Given the description of an element on the screen output the (x, y) to click on. 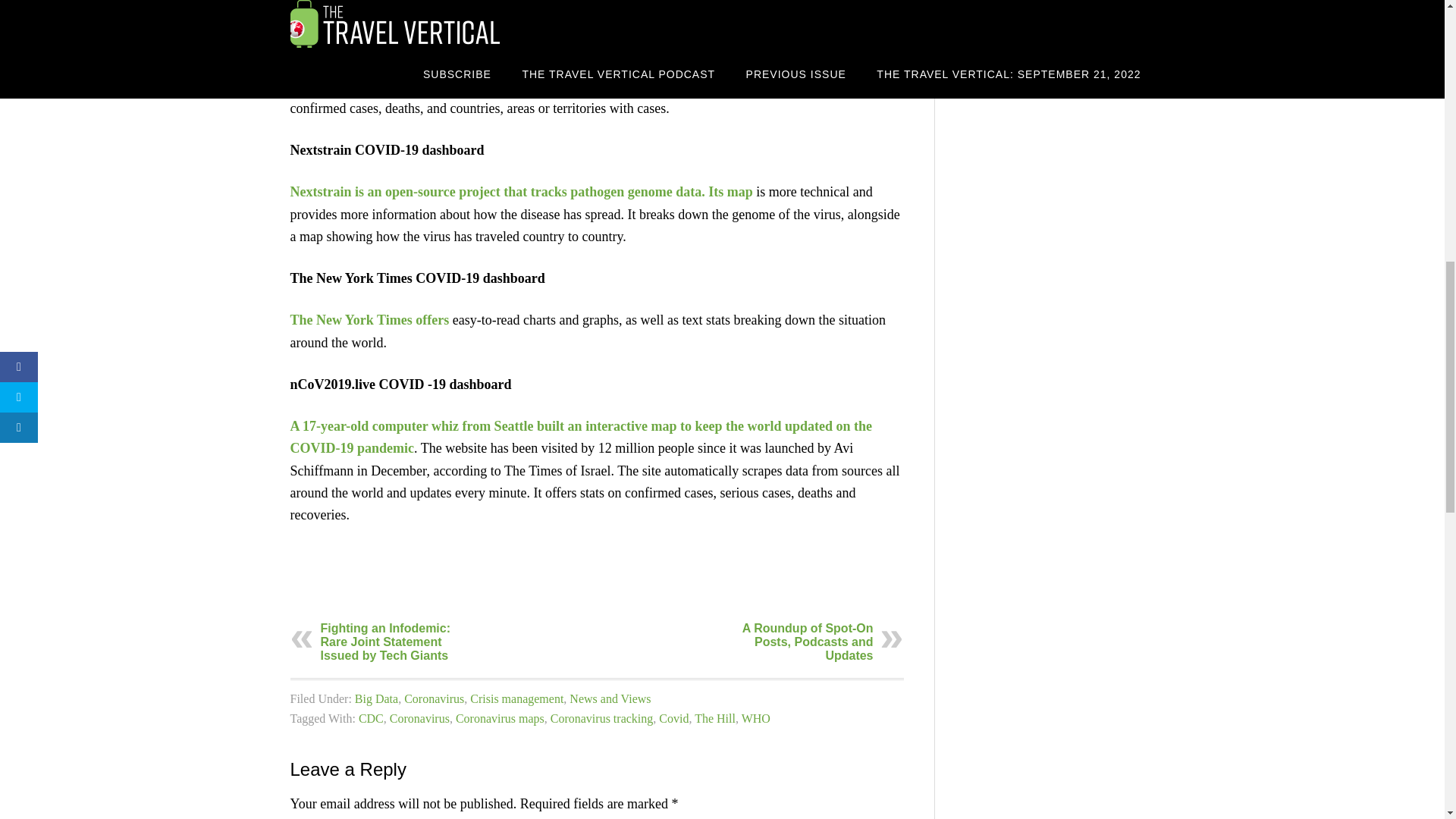
The New York Times offers (368, 319)
Crisis management (516, 698)
Covid (673, 717)
Coronavirus (419, 717)
A Roundup of Spot-On Posts, Podcasts and Updates (807, 641)
CDC (371, 717)
Coronavirus maps (499, 717)
The Hill (714, 717)
Coronavirus tracking (601, 717)
WHO (755, 717)
Big Data (376, 698)
